Given the description of an element on the screen output the (x, y) to click on. 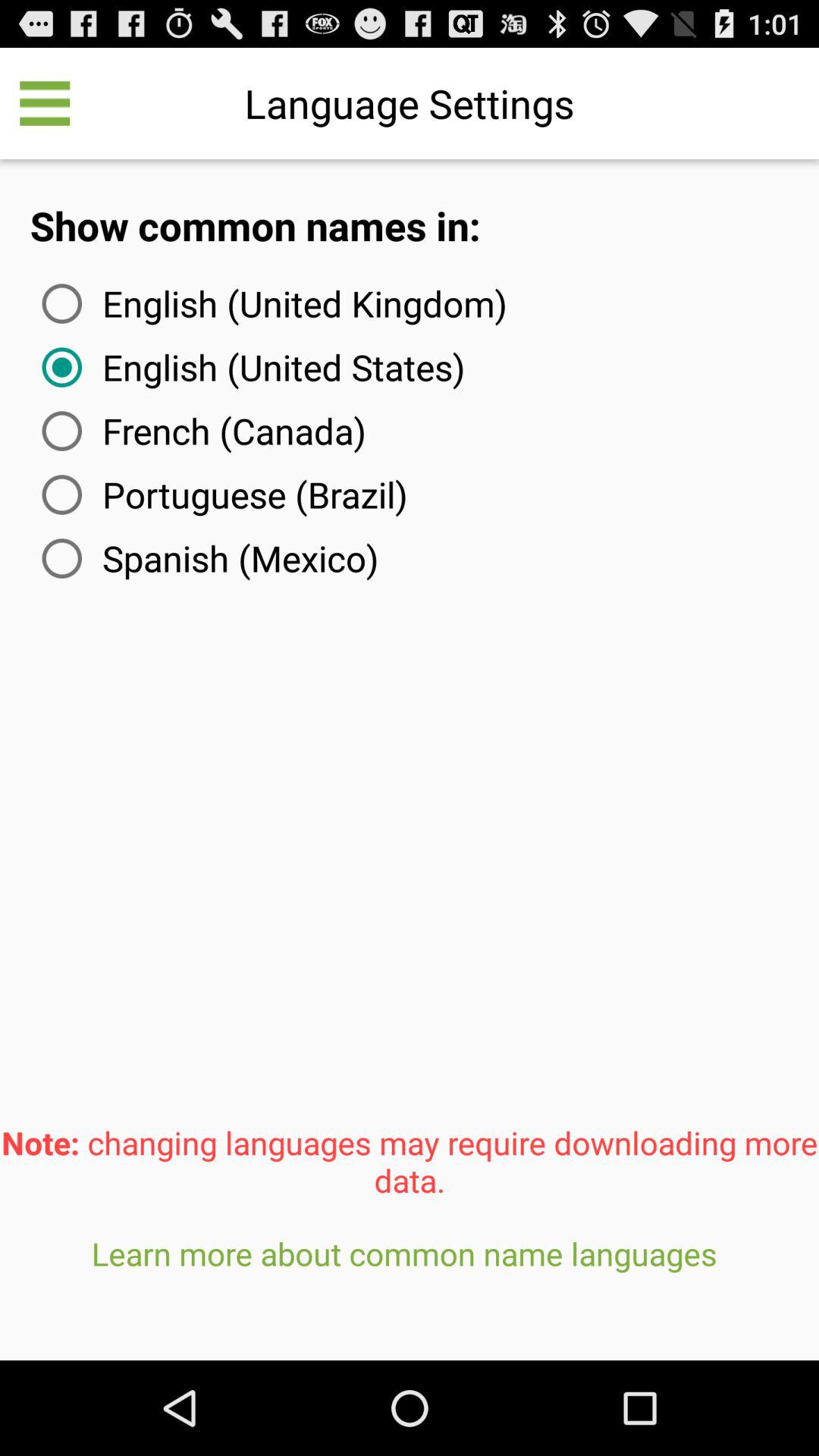
jump until portuguese (brazil) (221, 494)
